Given the description of an element on the screen output the (x, y) to click on. 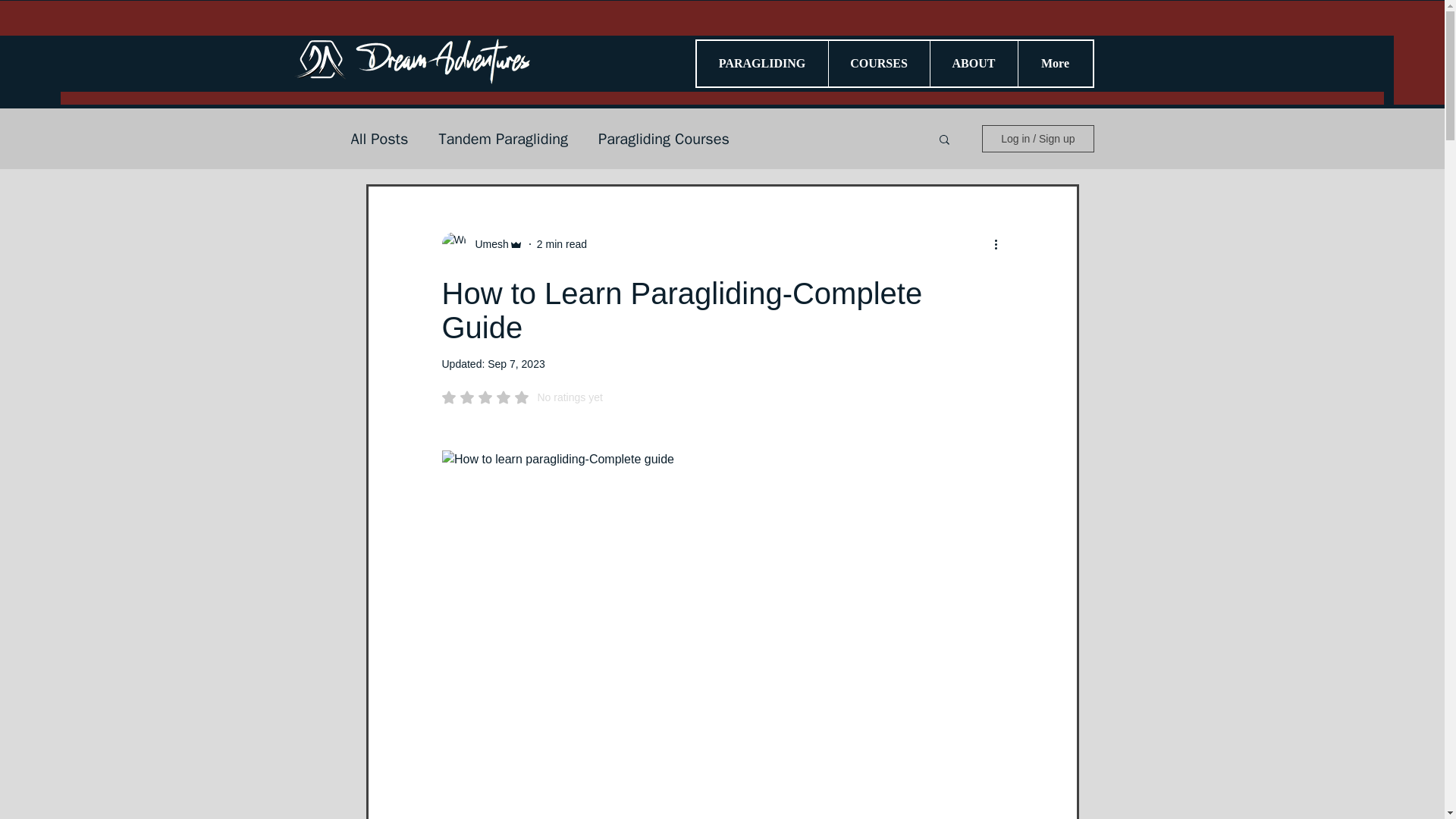
COURSES (879, 63)
ABOUT (973, 63)
PARAGLIDING (761, 63)
Sep 7, 2023 (515, 363)
All Posts (378, 138)
2 min read (561, 244)
Tandem Paragliding (502, 138)
Umesh (486, 244)
Paragliding Courses (663, 138)
